Given the description of an element on the screen output the (x, y) to click on. 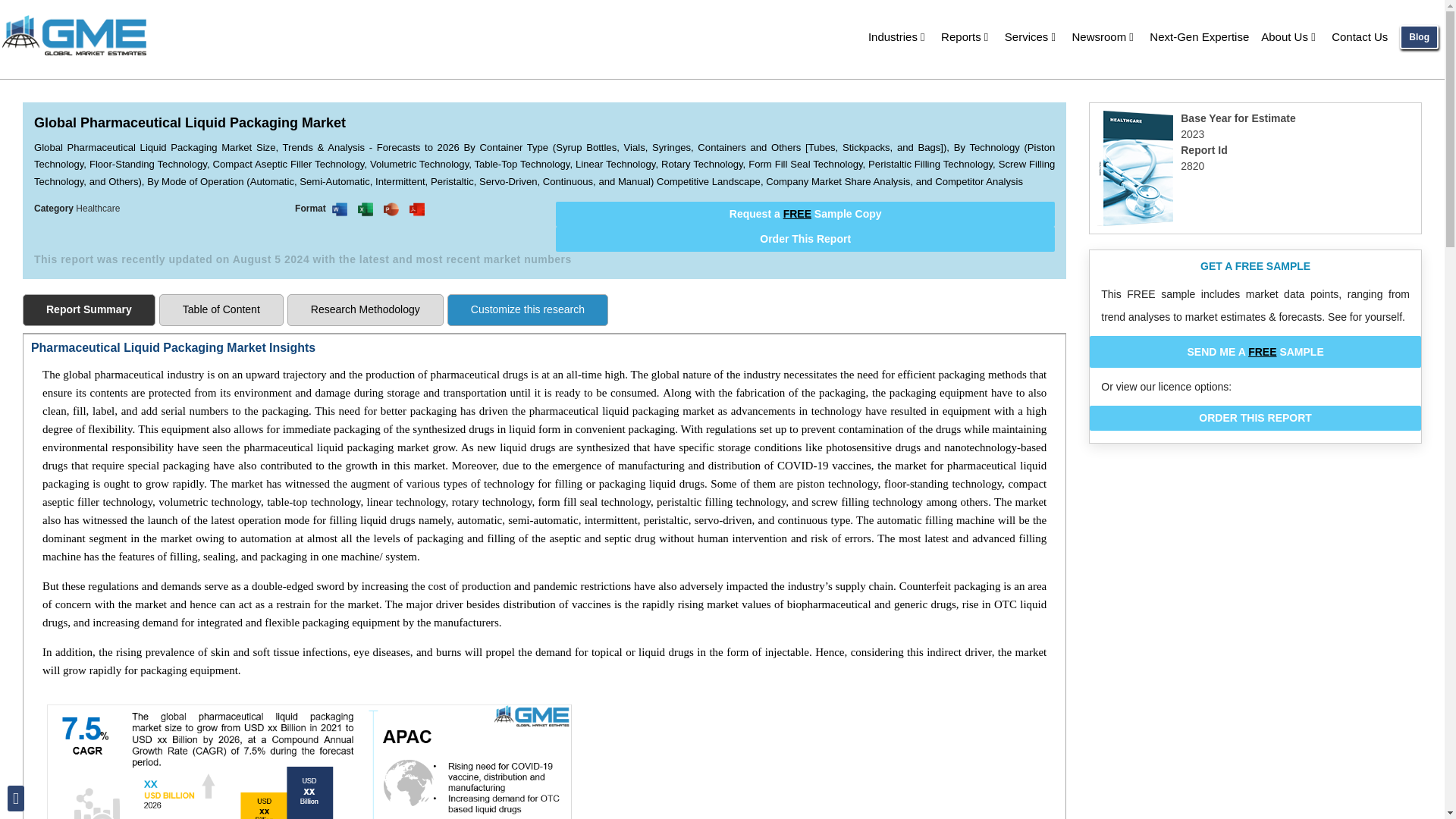
This report is available in PDF format (417, 209)
This report is available in EXCEL SHEET format (365, 209)
Industries (897, 37)
This report is available as WORD DOCUMENT (339, 209)
This report is available in PPT format (391, 209)
